Given the description of an element on the screen output the (x, y) to click on. 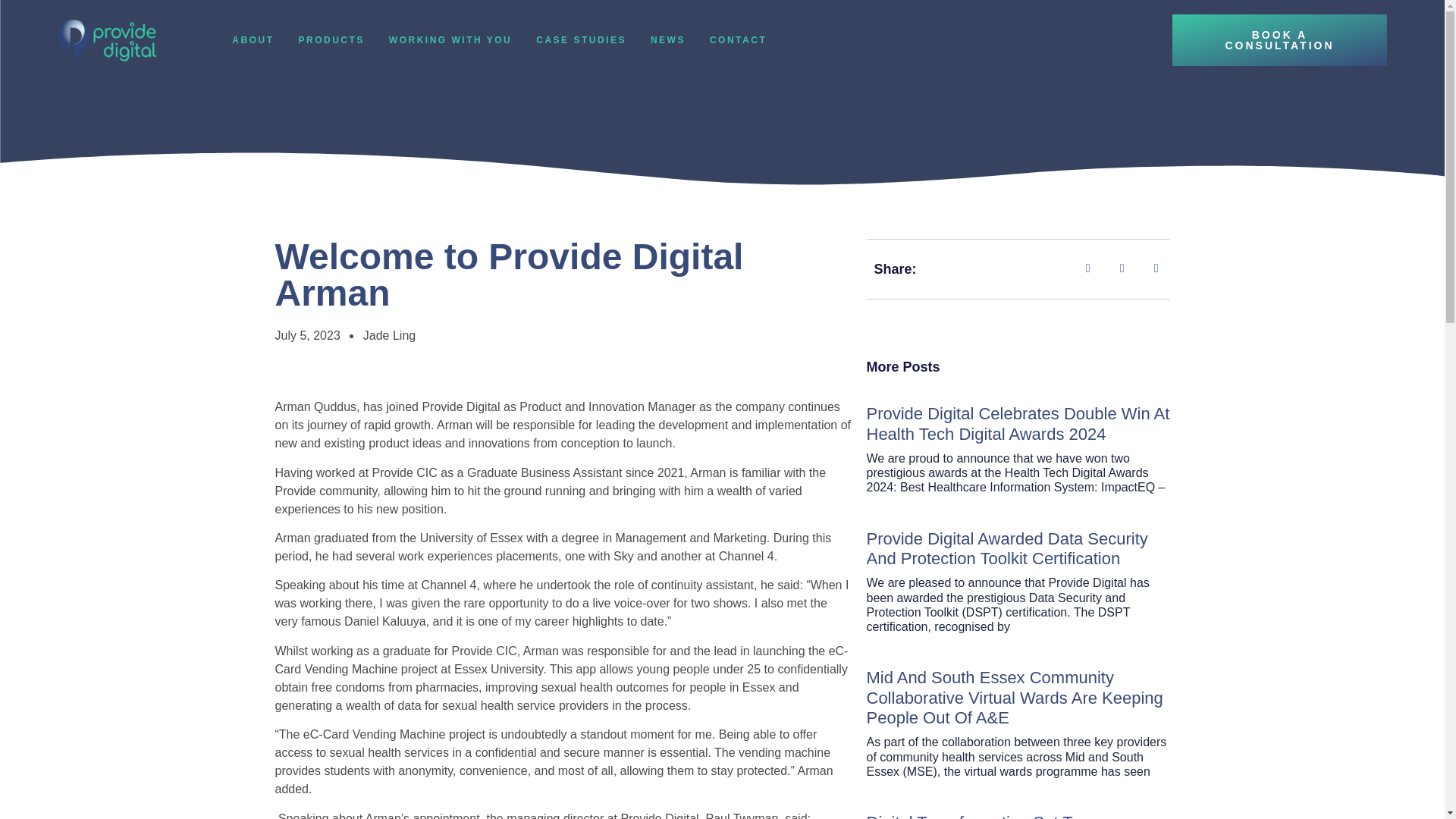
PRODUCTS (331, 40)
CASE STUDIES (580, 40)
ABOUT (252, 40)
BOOK A CONSULTATION (1279, 40)
WORKING WITH YOU (450, 40)
Jade Ling (388, 335)
NEWS (667, 40)
